Given the description of an element on the screen output the (x, y) to click on. 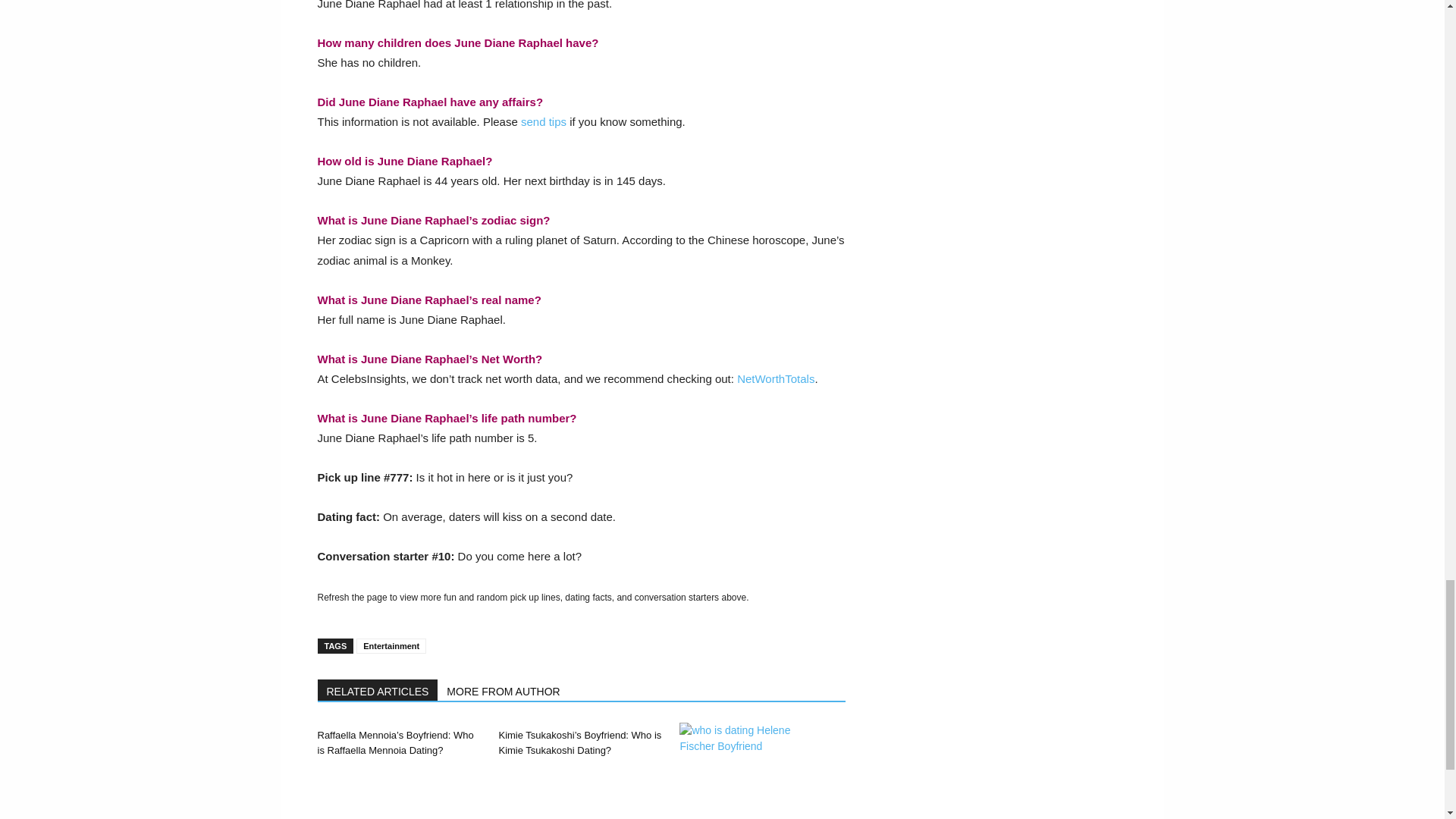
RELATED ARTICLES (377, 690)
MORE FROM AUTHOR (503, 690)
NetWorthTotals (774, 378)
June Diane Raphael net worth status (774, 378)
Entertainment (391, 645)
send tips (543, 121)
Contact DatingRumors (543, 121)
